Given the description of an element on the screen output the (x, y) to click on. 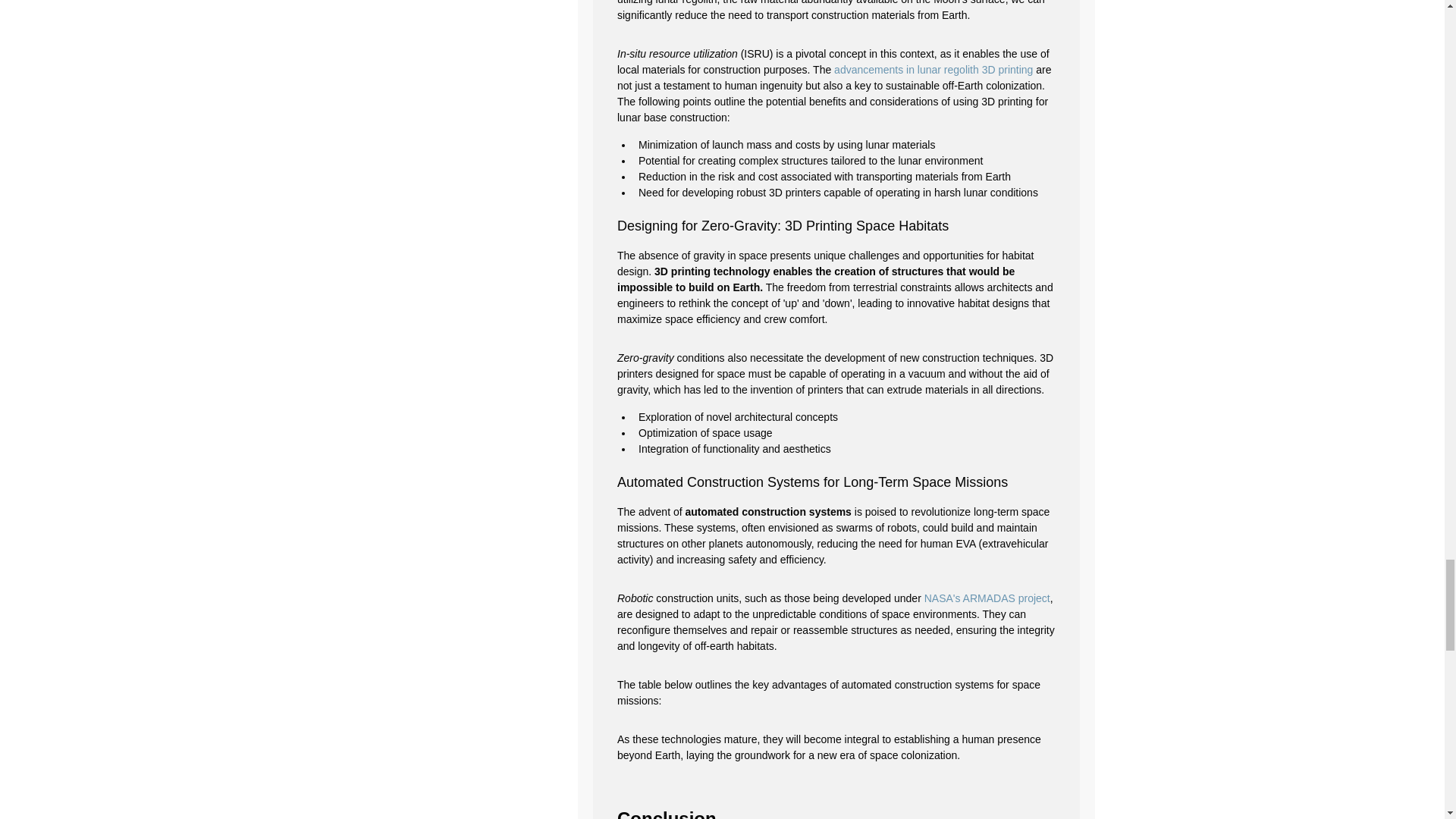
advancements in lunar regolith 3D printing (933, 69)
NASA's ARMADAS project (986, 598)
